Given the description of an element on the screen output the (x, y) to click on. 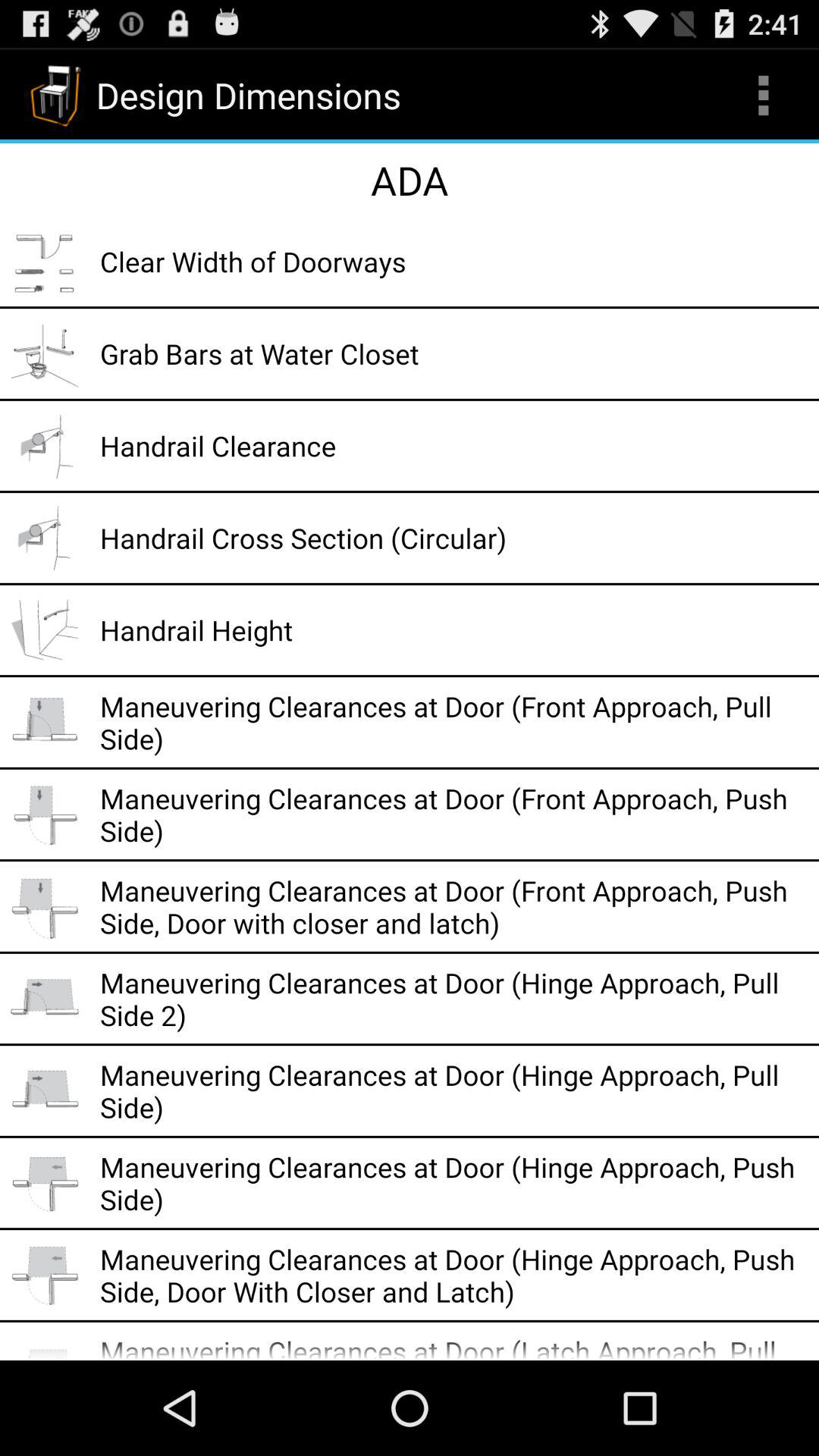
choose the icon at the top right corner (763, 95)
